Given the description of an element on the screen output the (x, y) to click on. 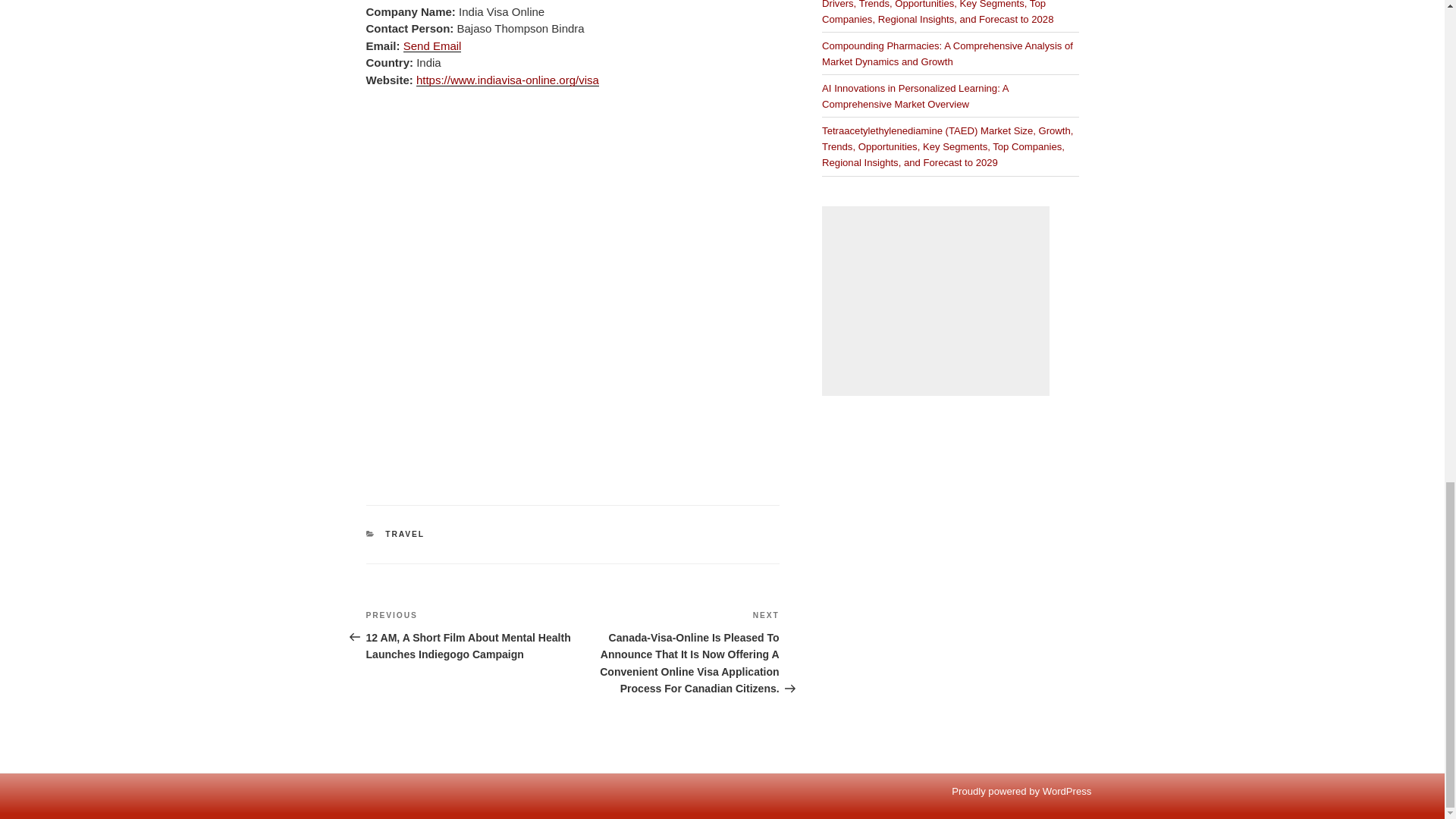
Proudly powered by WordPress (1021, 790)
Send Email (432, 45)
TRAVEL (405, 533)
Advertisement (935, 300)
